Given the description of an element on the screen output the (x, y) to click on. 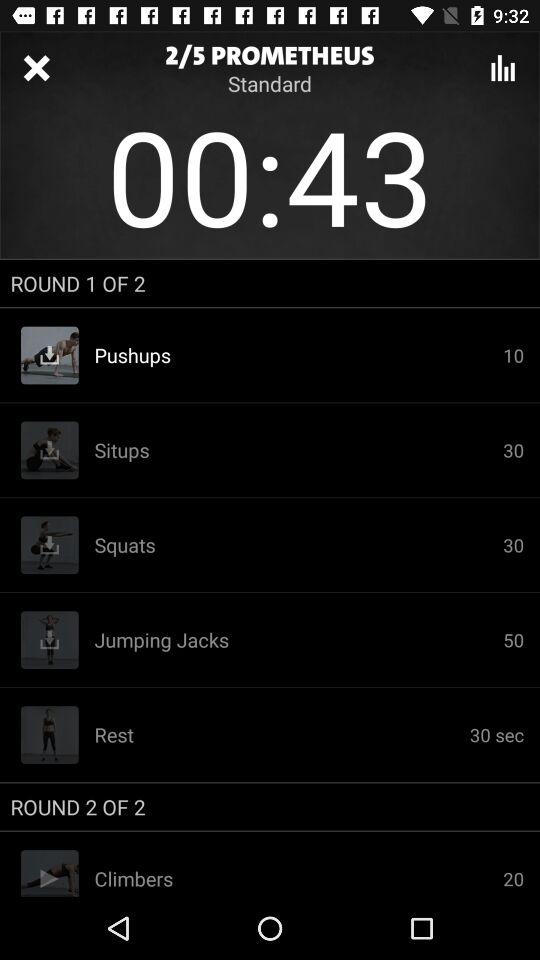
exit series (36, 68)
